Given the description of an element on the screen output the (x, y) to click on. 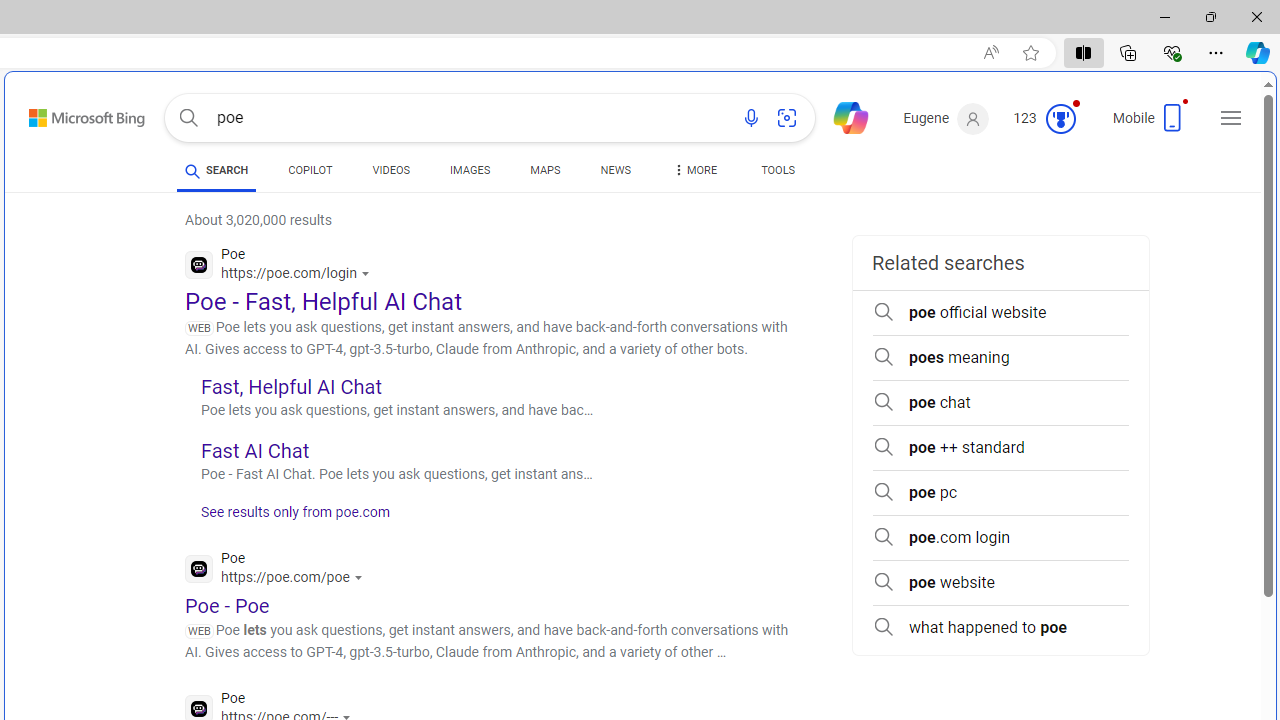
poe website (1000, 582)
MORE (693, 173)
Search using an image (787, 117)
IMAGES (470, 170)
poes meaning (1000, 358)
Search using voice (751, 117)
VIDEOS (390, 170)
COPILOT (310, 173)
IMAGES (470, 173)
VIDEOS (390, 173)
